Given the description of an element on the screen output the (x, y) to click on. 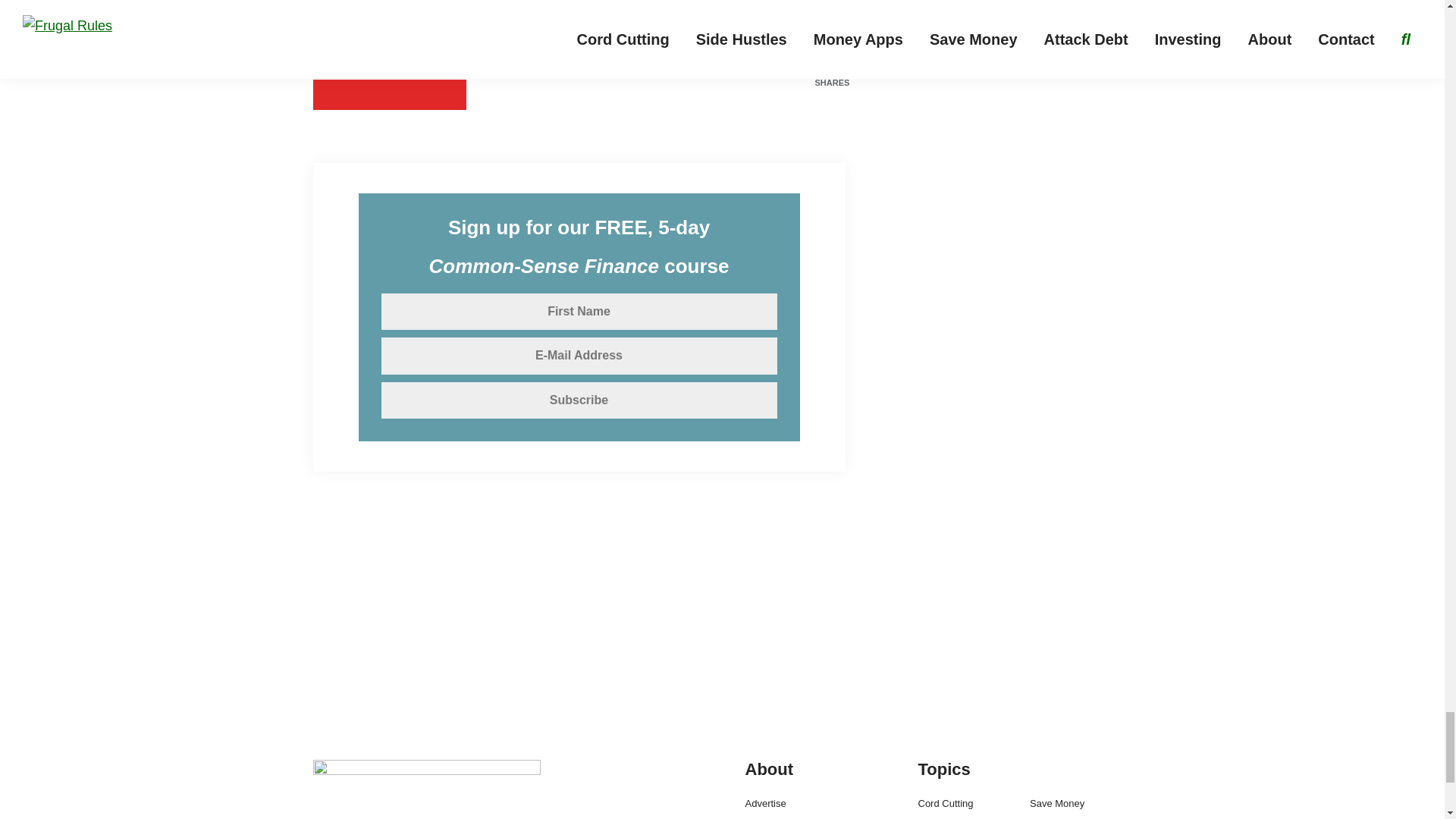
Share on Flipboard (389, 94)
Share on Facebook (552, 56)
Share on X (715, 56)
Save to Pinterest (389, 56)
Subscribe (578, 400)
